Given the description of an element on the screen output the (x, y) to click on. 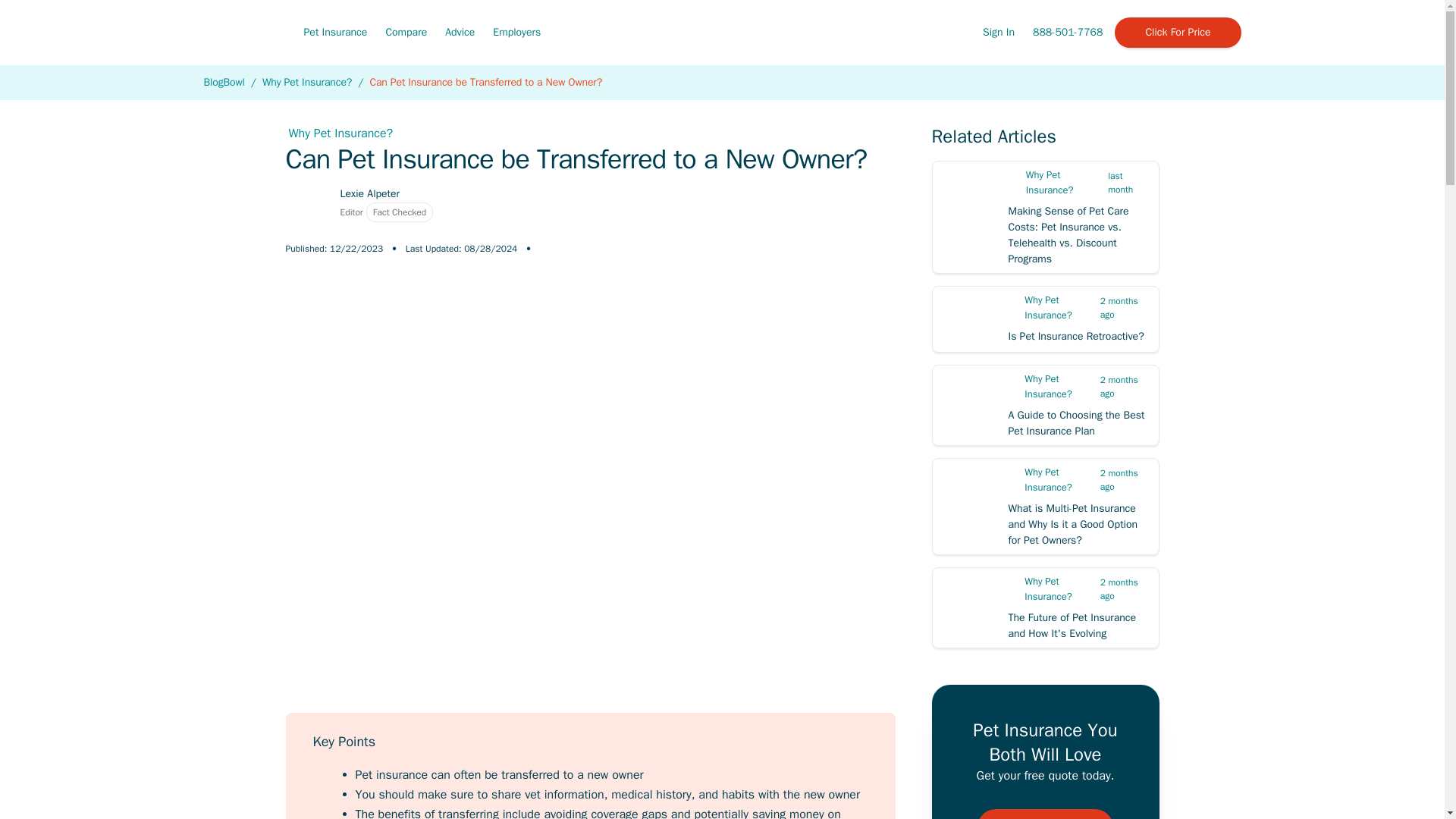
888-501-7768 (1067, 31)
BlogBowl (223, 82)
Why Pet Insurance? (307, 82)
Lexie Alpeter (368, 193)
Sign In (998, 31)
Employers (516, 31)
Can Pet Insurance be Transferred to a New Owner? (485, 82)
Why Pet Insurance? (590, 133)
Click For Price (1177, 31)
A Guide to Choosing the Best Pet Insurance Plan (1044, 404)
